Given the description of an element on the screen output the (x, y) to click on. 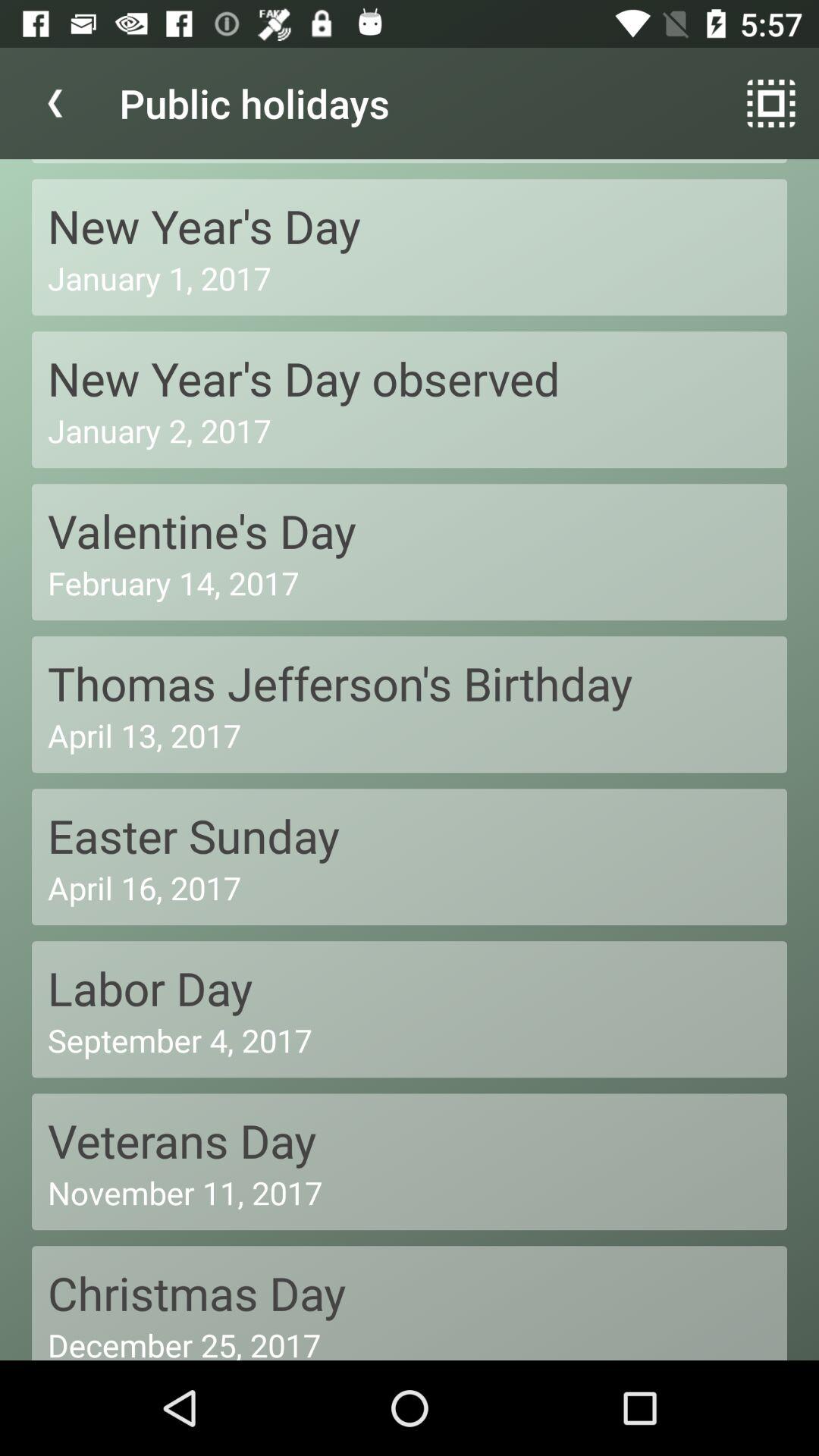
tap icon below valentine's day (409, 582)
